Given the description of an element on the screen output the (x, y) to click on. 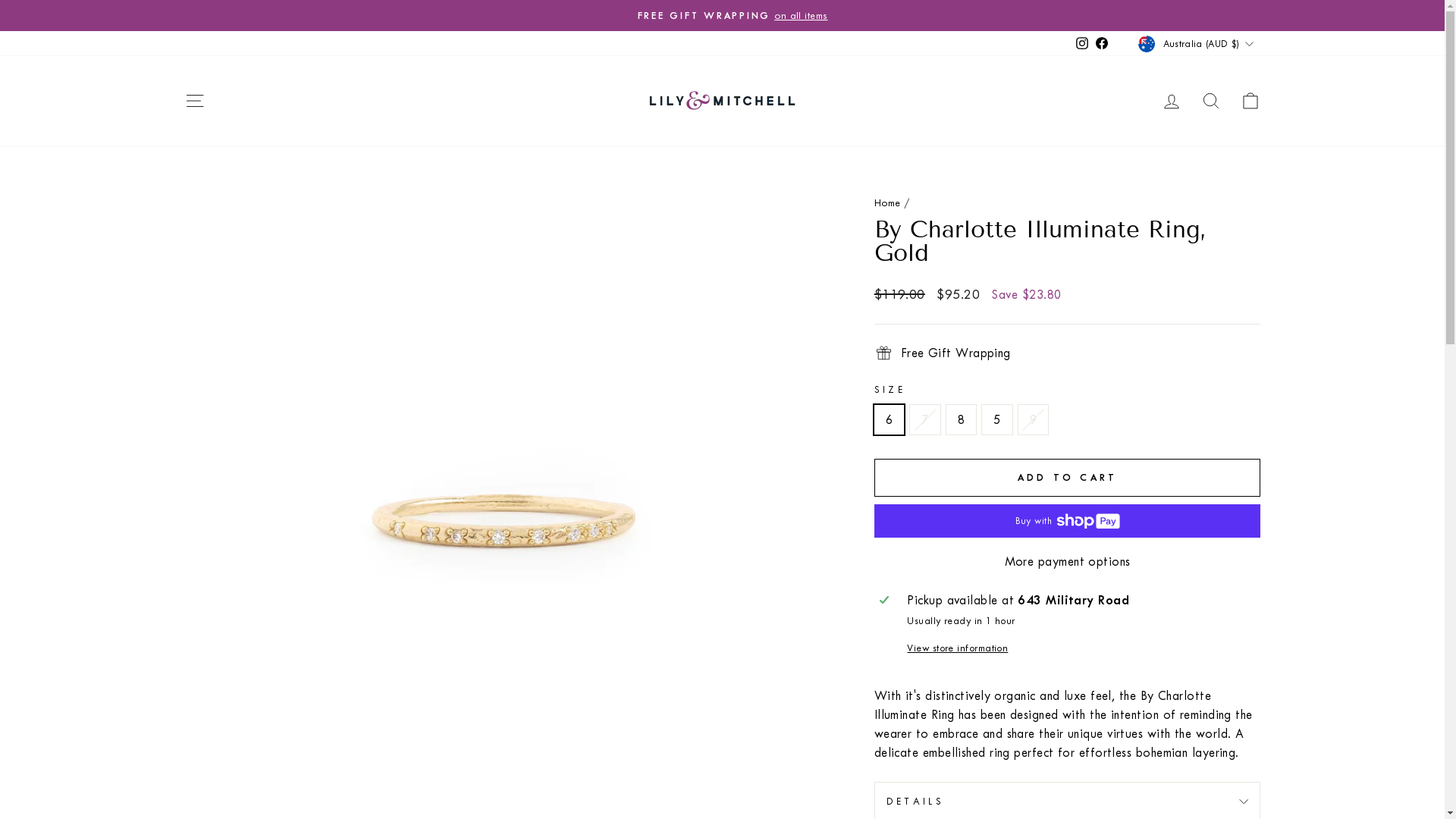
Australia (AUD $) Element type: text (1197, 43)
Cart Element type: text (1249, 100)
View store information Element type: text (1080, 647)
Home Element type: text (887, 202)
Facebook Element type: text (1101, 43)
ADD TO CART Element type: text (1067, 477)
Log in Element type: text (1170, 100)
Search Element type: text (1210, 100)
FREE EXPRESS SHIPPINGOn Australian orders over $100 Element type: text (722, 15)
Site navigation Element type: text (193, 100)
Instagram Element type: text (1082, 43)
More payment options Element type: text (1067, 561)
